Given the description of an element on the screen output the (x, y) to click on. 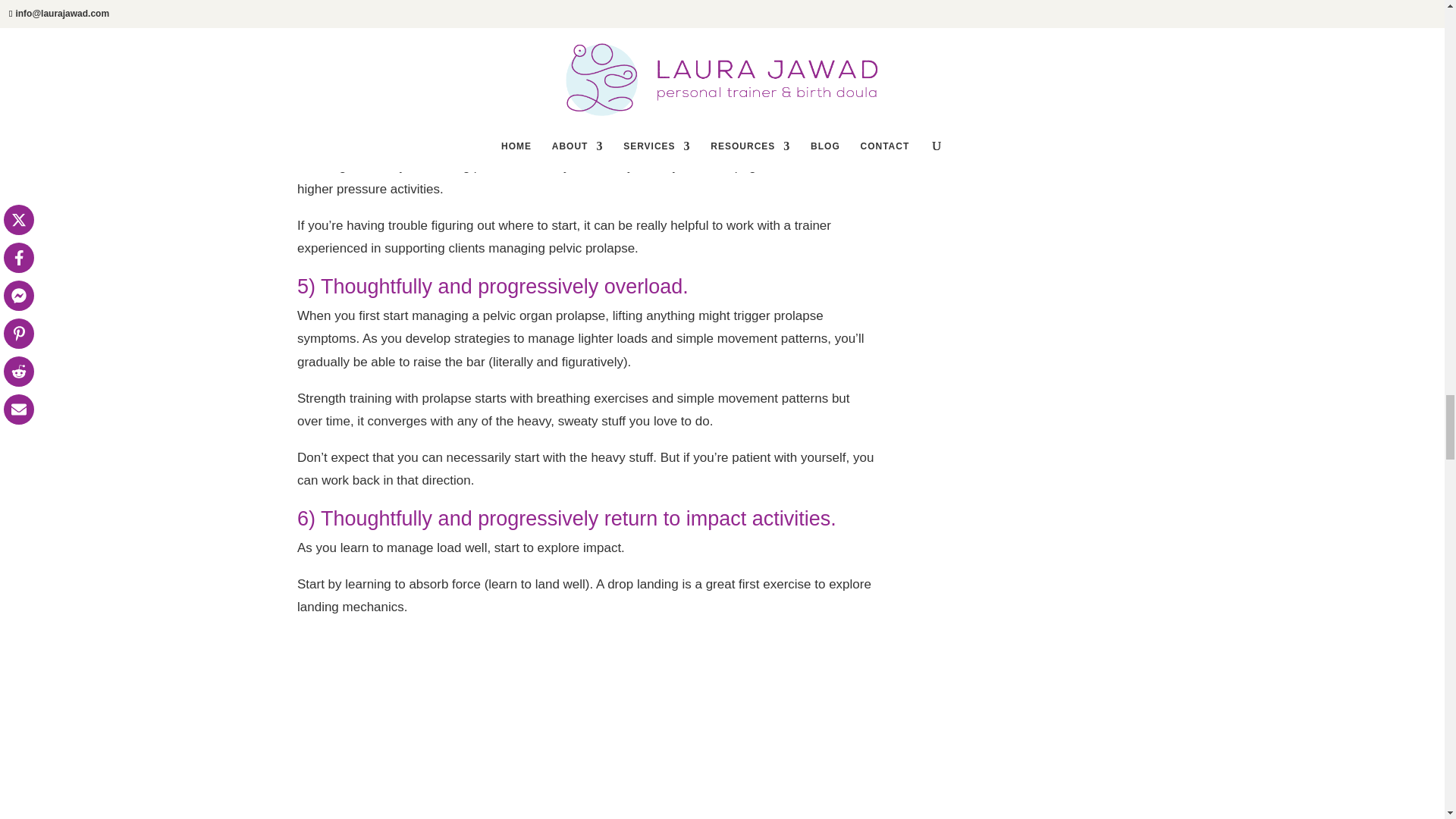
YouTube video player (509, 727)
YouTube video player (509, 36)
